Given the description of an element on the screen output the (x, y) to click on. 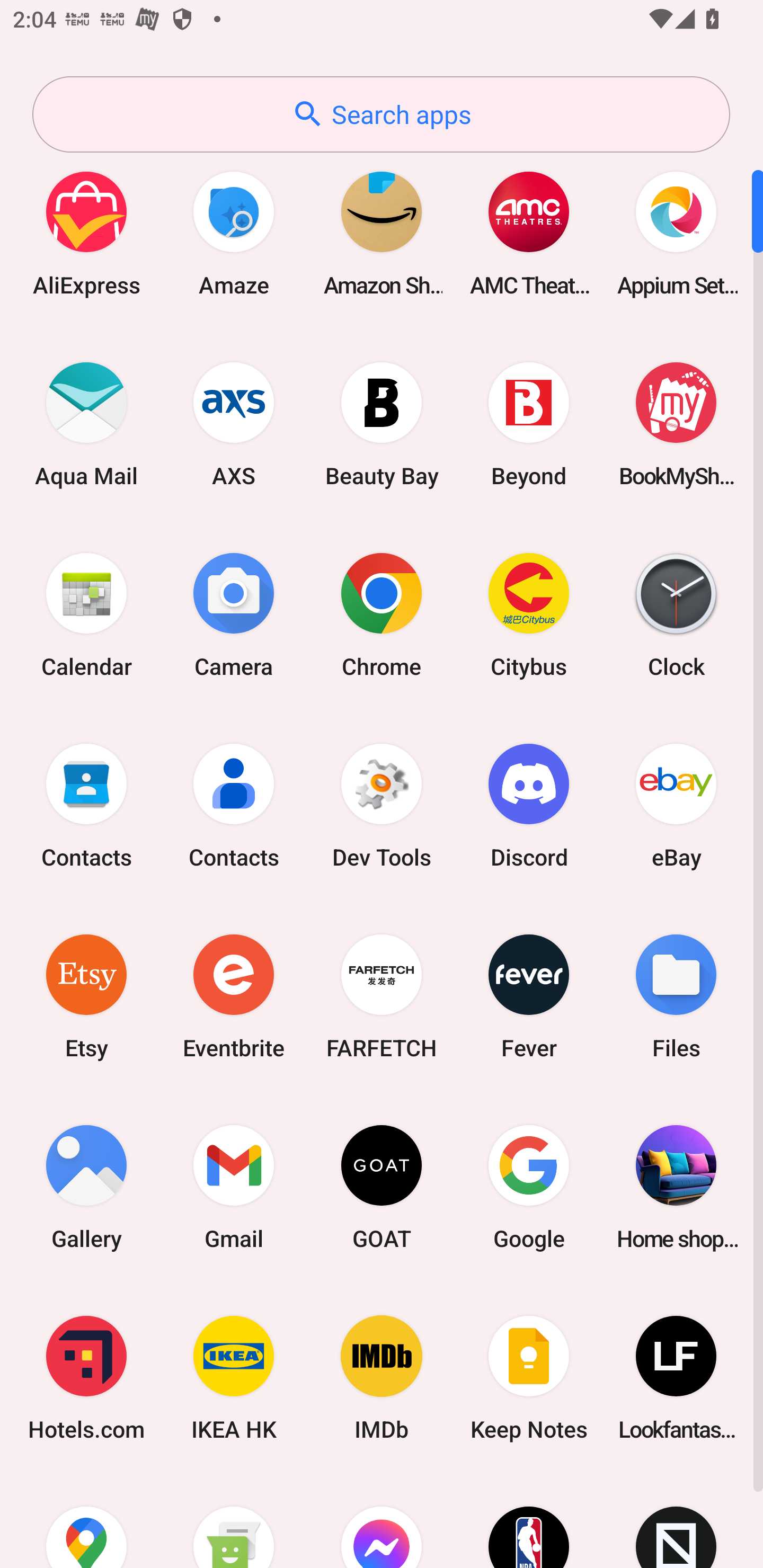
  Search apps (381, 114)
AliExpress (86, 233)
Amaze (233, 233)
Amazon Shopping (381, 233)
AMC Theatres (528, 233)
Appium Settings (676, 233)
Aqua Mail (86, 424)
AXS (233, 424)
Beauty Bay (381, 424)
Beyond (528, 424)
BookMyShow (676, 424)
Calendar (86, 614)
Camera (233, 614)
Chrome (381, 614)
Citybus (528, 614)
Clock (676, 614)
Contacts (86, 805)
Contacts (233, 805)
Dev Tools (381, 805)
Discord (528, 805)
eBay (676, 805)
Etsy (86, 996)
Eventbrite (233, 996)
FARFETCH (381, 996)
Fever (528, 996)
Files (676, 996)
Gallery (86, 1186)
Gmail (233, 1186)
GOAT (381, 1186)
Google (528, 1186)
Home shopping (676, 1186)
Hotels.com (86, 1377)
IKEA HK (233, 1377)
IMDb (381, 1377)
Keep Notes (528, 1377)
Lookfantastic (676, 1377)
